Given the description of an element on the screen output the (x, y) to click on. 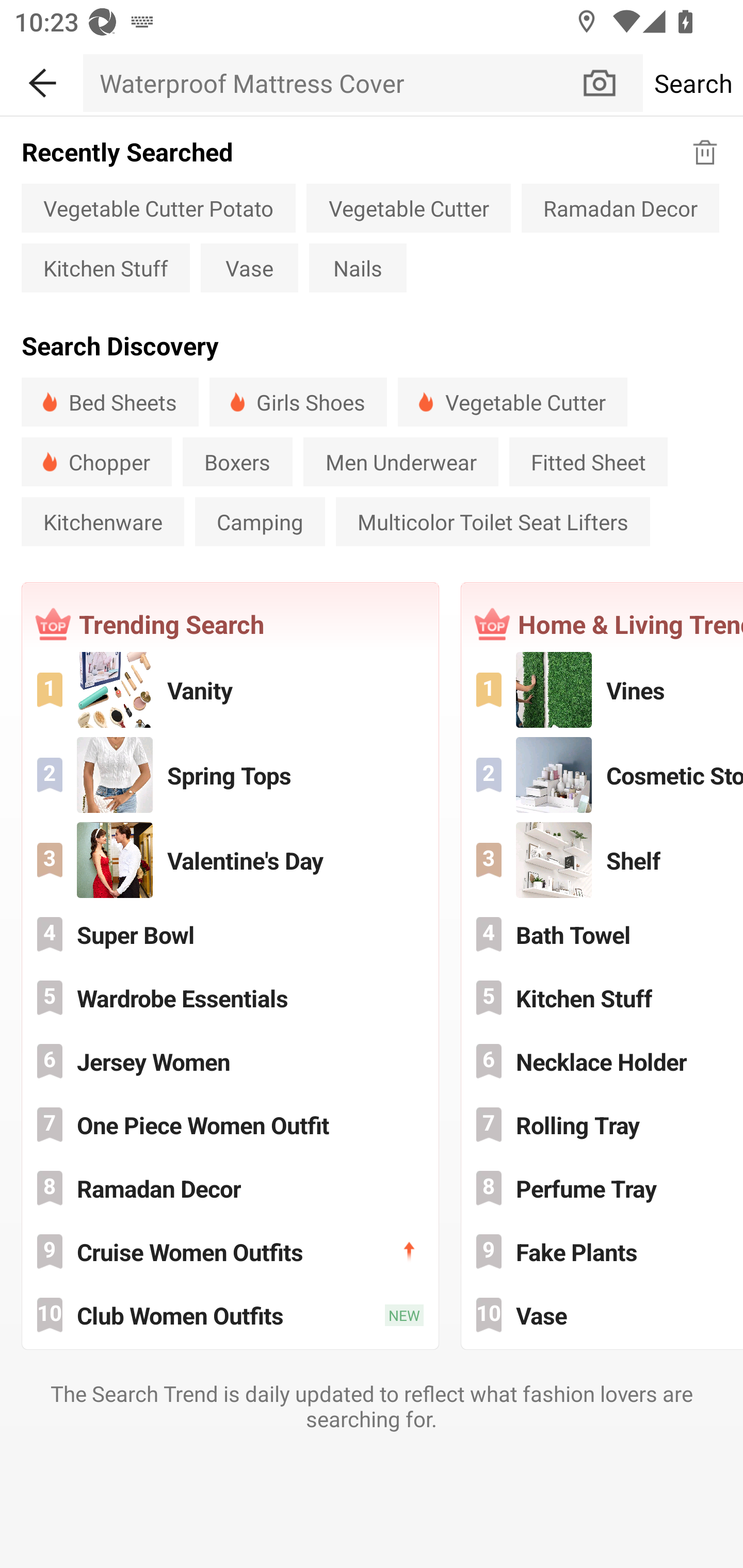
BACK (41, 79)
Waterproof Mattress Cover (331, 82)
Search (692, 82)
Vegetable Cutter Potato (158, 207)
Vegetable Cutter (408, 207)
Ramadan Decor (620, 207)
Kitchen Stuff (105, 268)
Vase (248, 268)
Nails (357, 268)
Bed Sheets (109, 401)
Girls Shoes (298, 401)
Vegetable Cutter (512, 401)
Chopper (96, 461)
Boxers (237, 461)
Men Underwear (400, 461)
Fitted Sheet (587, 461)
Kitchenware (102, 521)
Camping (259, 521)
Multicolor Toilet Seat Lifters (492, 521)
Vanity 1 Vanity (230, 689)
Vines 1 Vines (602, 689)
Spring Tops 2 Spring Tops (230, 774)
Cosmetic Storage 2 Cosmetic Storage (602, 774)
Valentine's Day 3 Valentine's Day (230, 859)
Shelf 3 Shelf (602, 859)
Super Bowl 4 Super Bowl (230, 934)
Bath Towel 4 Bath Towel (602, 934)
Wardrobe Essentials 5 Wardrobe Essentials (230, 997)
Kitchen Stuff 5 Kitchen Stuff (602, 997)
Jersey Women 6 Jersey Women (230, 1061)
Necklace Holder 6 Necklace Holder (602, 1061)
One Piece Women Outfit 7 One Piece Women Outfit (230, 1124)
Rolling Tray 7 Rolling Tray (602, 1124)
Ramadan Decor 8 Ramadan Decor (230, 1187)
Perfume Tray 8 Perfume Tray (602, 1187)
Cruise Women Outfits 9 Cruise Women Outfits (230, 1250)
Fake Plants 9 Fake Plants (602, 1250)
Club Women Outfits 10 Club Women Outfits NEW (230, 1314)
Vase 10 Vase (602, 1314)
